Given the description of an element on the screen output the (x, y) to click on. 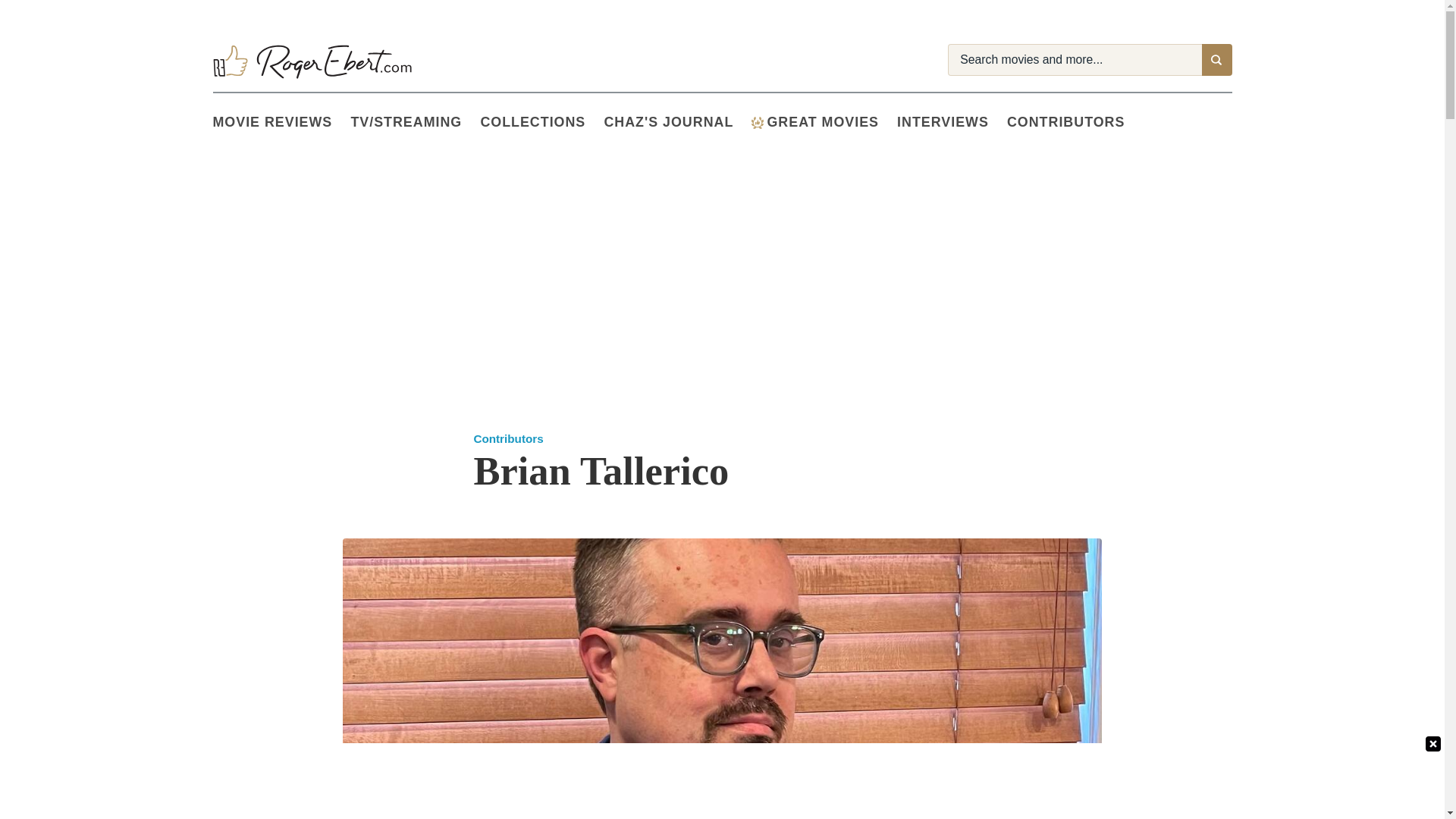
Collections (542, 122)
Contributors (1074, 122)
Contributors (508, 438)
GREAT MOVIES (823, 122)
Chaz's Journal (677, 122)
COLLECTIONS (542, 122)
Interviews (951, 122)
Movie Reviews (281, 122)
CHAZ'S JOURNAL (677, 122)
